Given the description of an element on the screen output the (x, y) to click on. 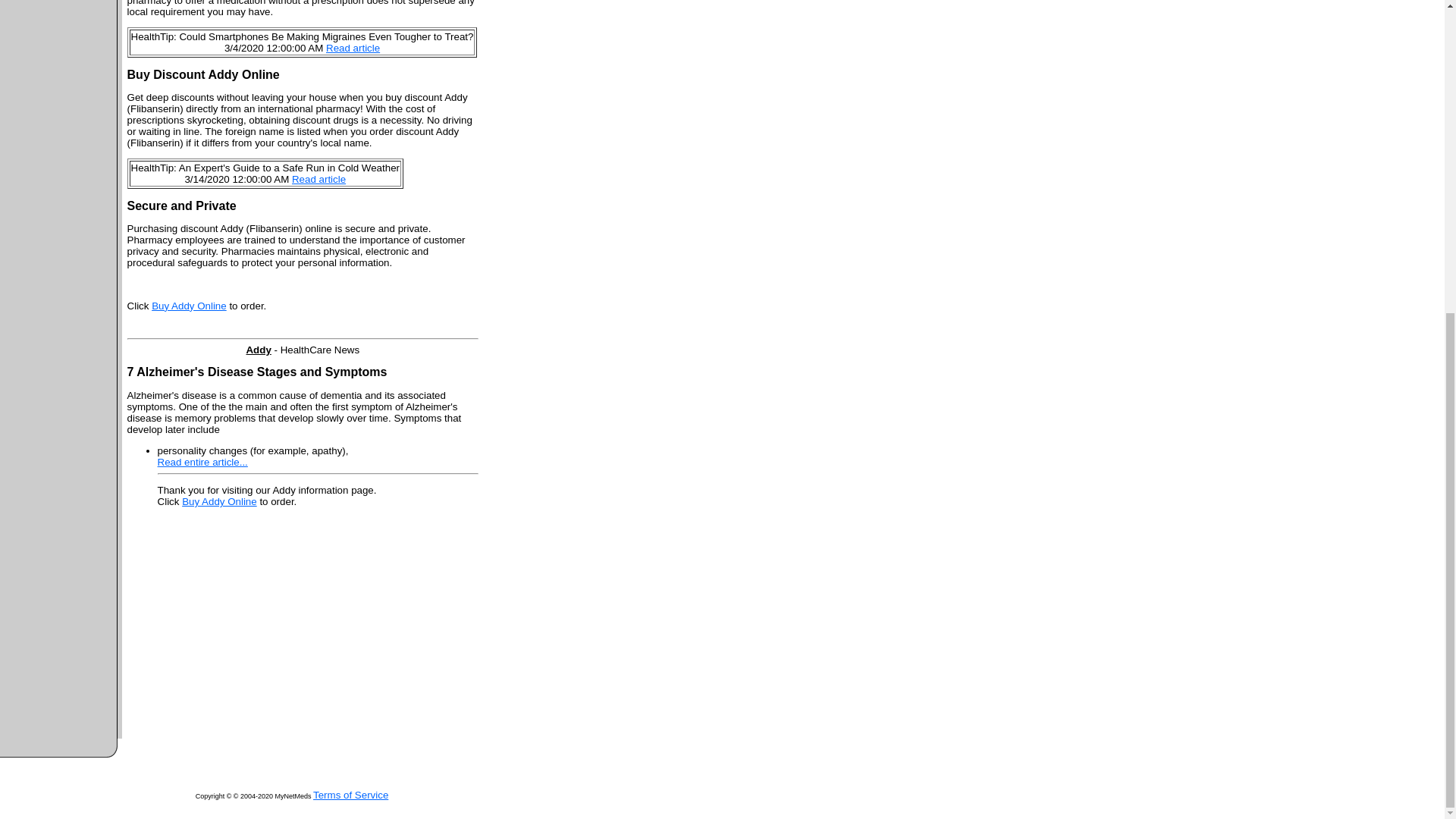
Read entire article... (202, 461)
Buy Addy Online (189, 306)
Read article (319, 179)
Buy Addy Online (219, 501)
Read article (353, 48)
